Given the description of an element on the screen output the (x, y) to click on. 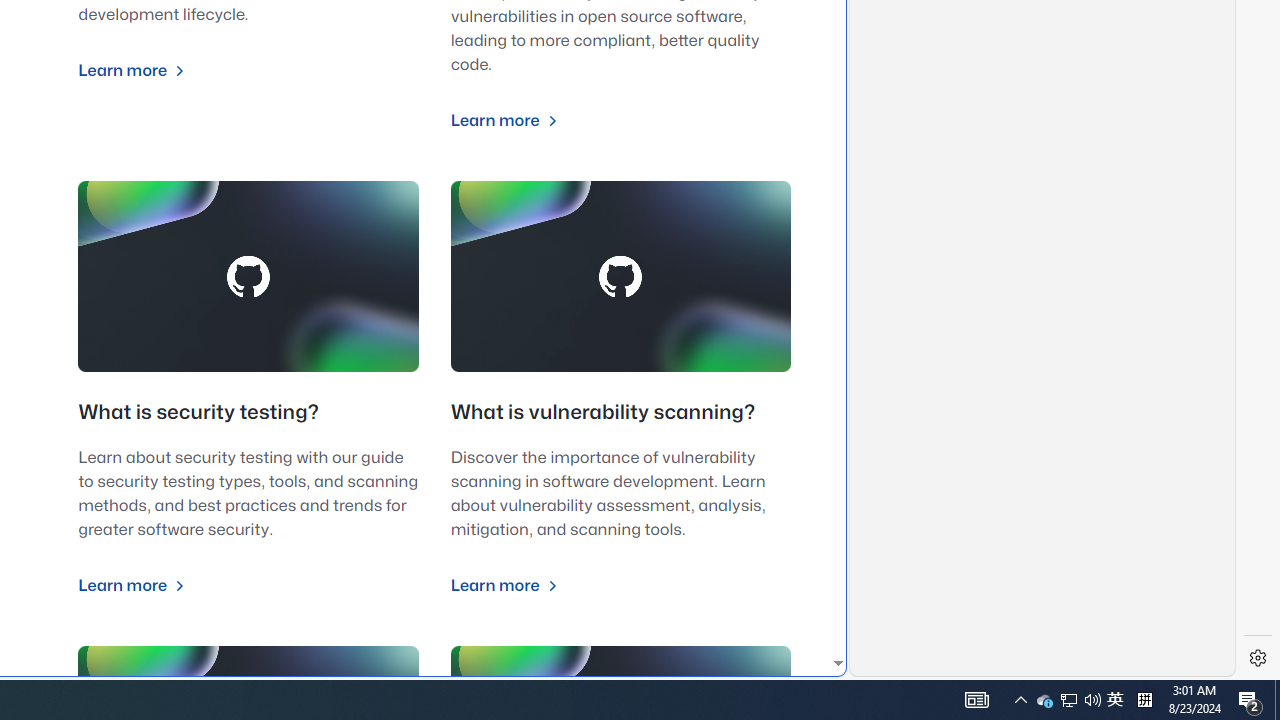
What is vulnerability scanning? (603, 413)
What is security testing? (198, 413)
